Given the description of an element on the screen output the (x, y) to click on. 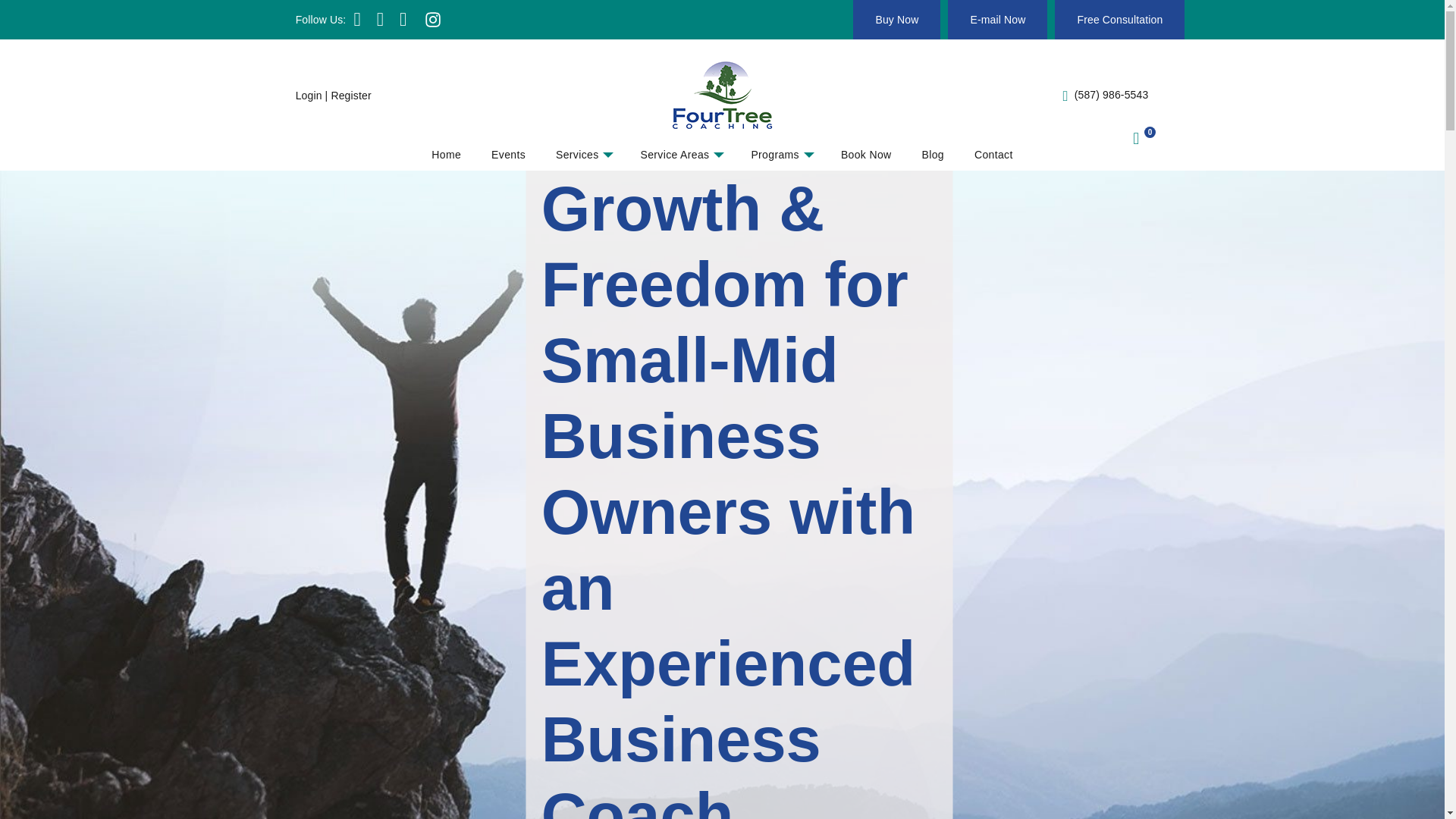
Events (508, 154)
Service Areas (679, 154)
Book Now (866, 154)
Programs (780, 154)
Home (446, 154)
Blog (933, 154)
Services (582, 154)
Buy Now (896, 19)
Free Consultation (1119, 19)
0 (1133, 140)
